Given the description of an element on the screen output the (x, y) to click on. 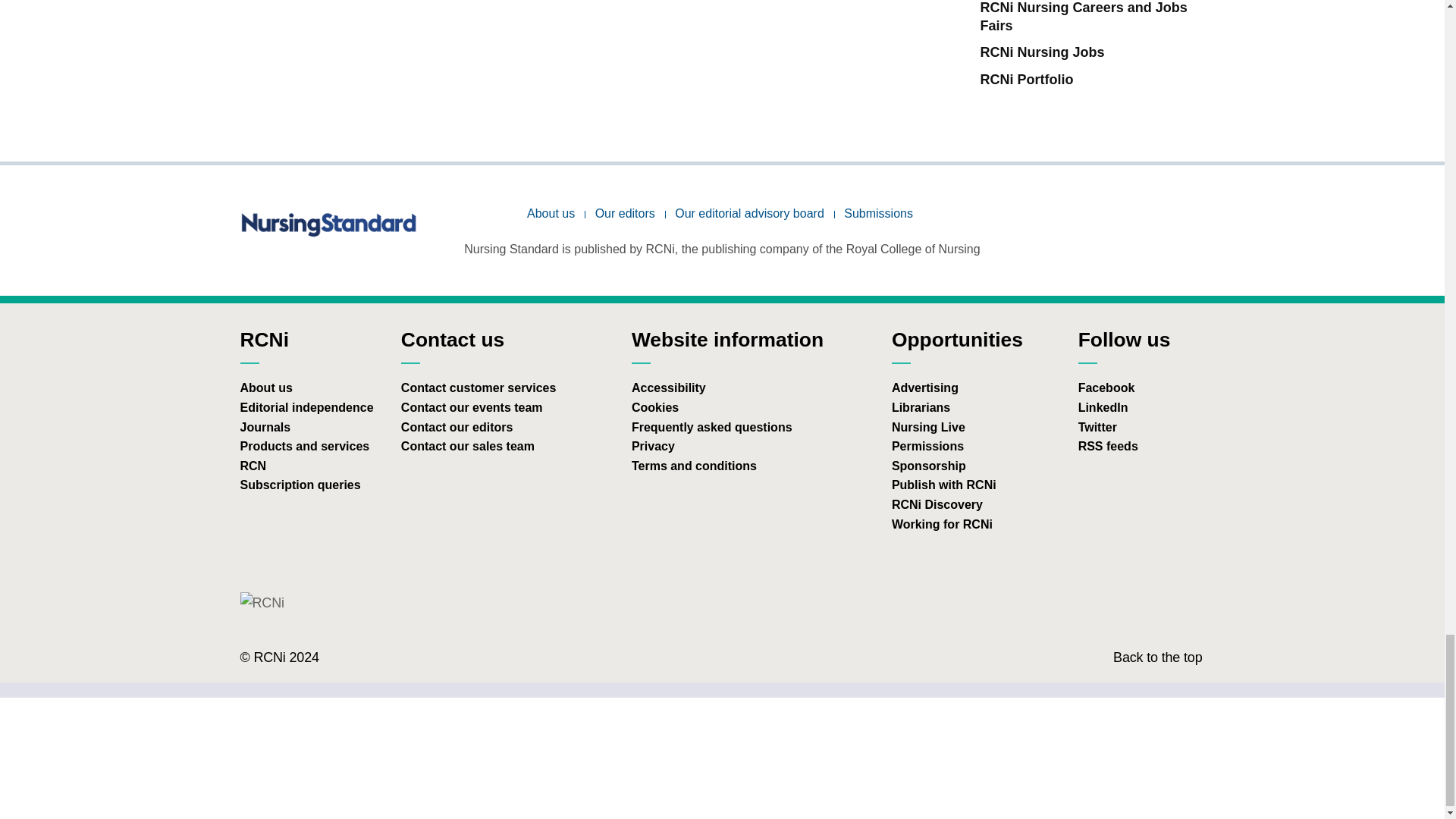
Follow us on twitter (1145, 238)
Nursing Standard (331, 223)
Follow us on instagram (1103, 238)
Like us on Facebook (1186, 238)
